Given the description of an element on the screen output the (x, y) to click on. 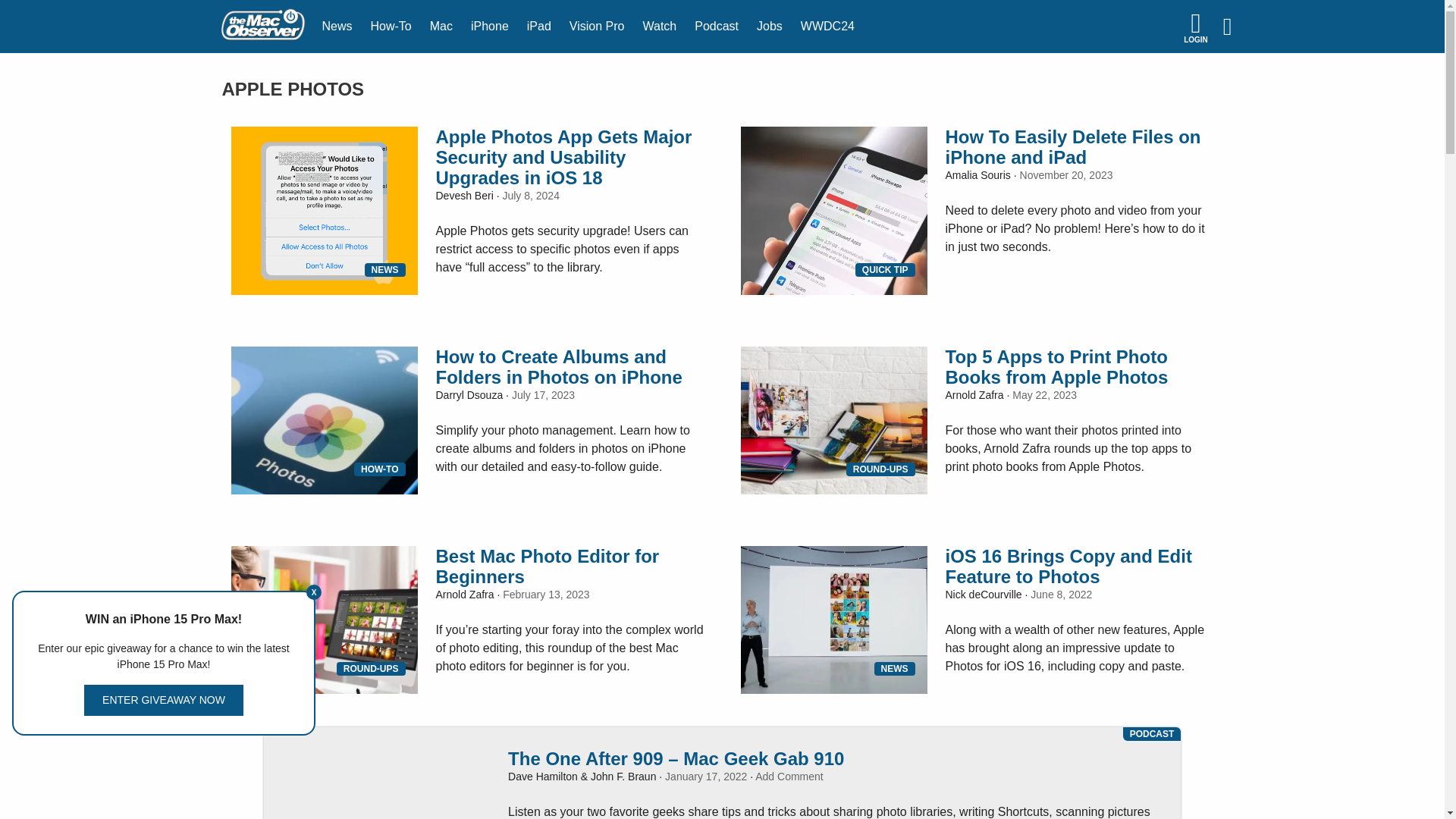
July 8, 2024 (530, 195)
July 17, 2023 (543, 395)
How to Create Albums and Folders in Photos on iPhone (558, 366)
Watch (659, 26)
NEWS (384, 269)
Podcast (716, 26)
November 20, 2023 (1066, 174)
Podcast (716, 26)
iOS 16 Brings Copy and Edit Feature to Photos (1067, 566)
How-To (390, 26)
iPhone (489, 26)
Best Mac Photo Editor for Beginners (547, 566)
WWDC24 (827, 26)
iPhone (489, 26)
HOW-TO (379, 468)
